Given the description of an element on the screen output the (x, y) to click on. 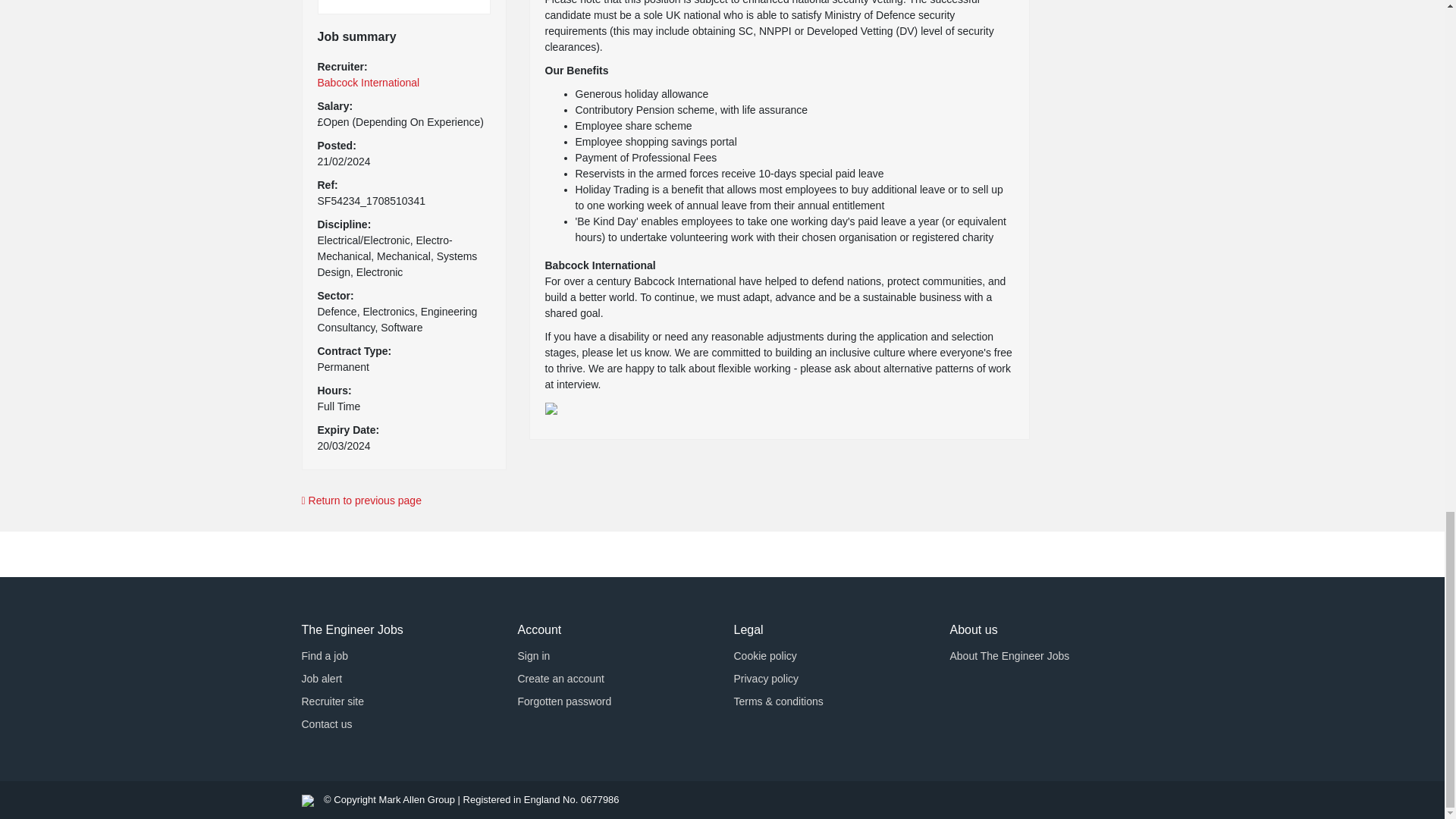
About The Engineer Jobs (1008, 655)
Contact us (326, 724)
Cookie policy (764, 655)
Job alert (321, 678)
Sign in (533, 655)
Find a job (324, 655)
Return to previous page (721, 500)
Recruiter site (332, 701)
Forgotten password (563, 701)
Create an account (560, 678)
Privacy policy (766, 678)
